Given the description of an element on the screen output the (x, y) to click on. 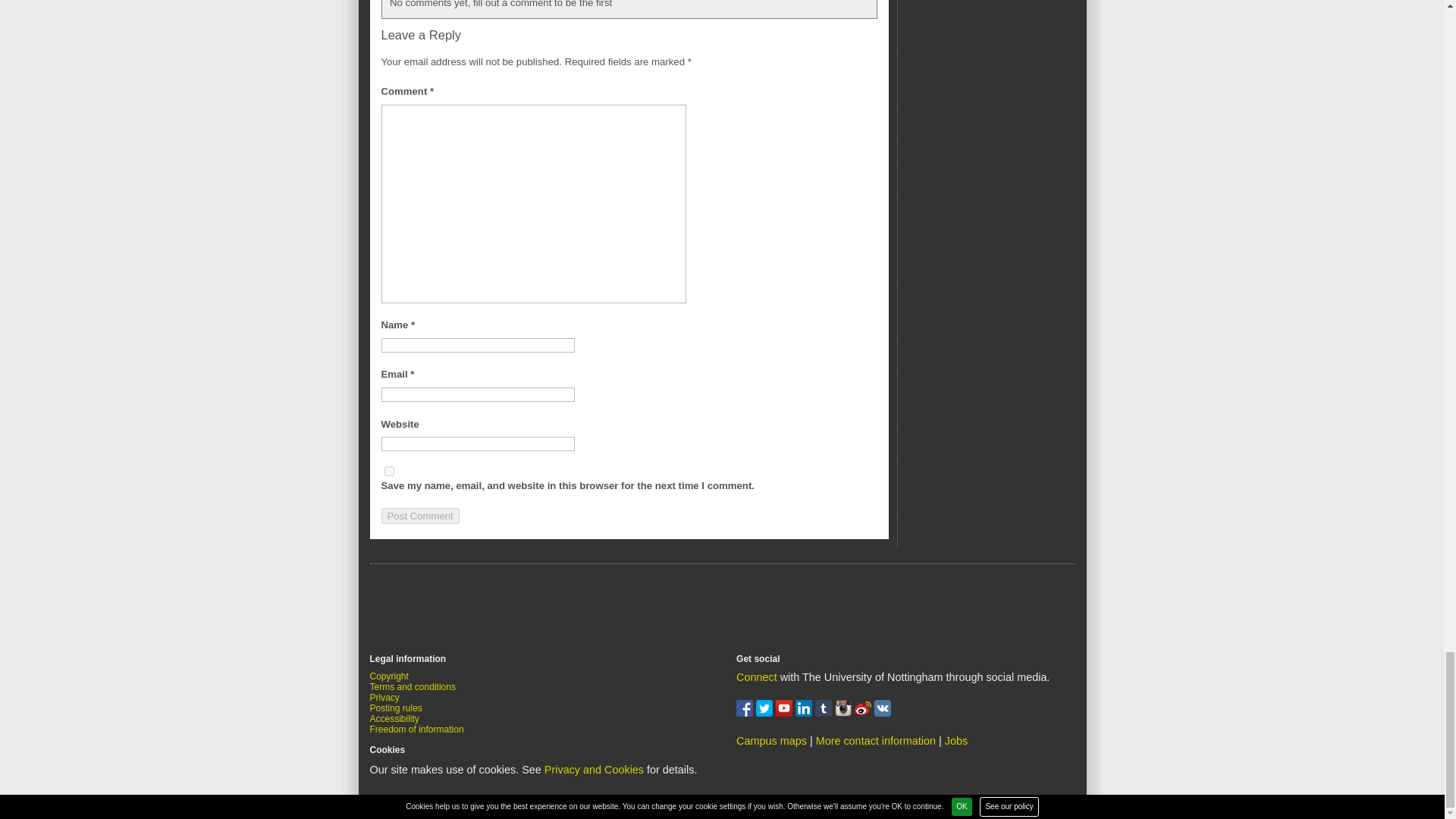
Join us on Linked in (804, 712)
Copyright  (389, 675)
Get Social with The University of Nottingham (756, 676)
Posting rules (395, 707)
Accessibility (394, 718)
Follow our Tumblr (824, 712)
Terms and conditions (412, 686)
Follow us on twitter (765, 712)
Post Comment (419, 515)
View our campus maps (771, 740)
Watch us on You Tube (785, 712)
Find us on Weibo (864, 712)
Join us on vkontakte (883, 712)
Find us on facebook (745, 712)
Freedom of information (416, 728)
